Given the description of an element on the screen output the (x, y) to click on. 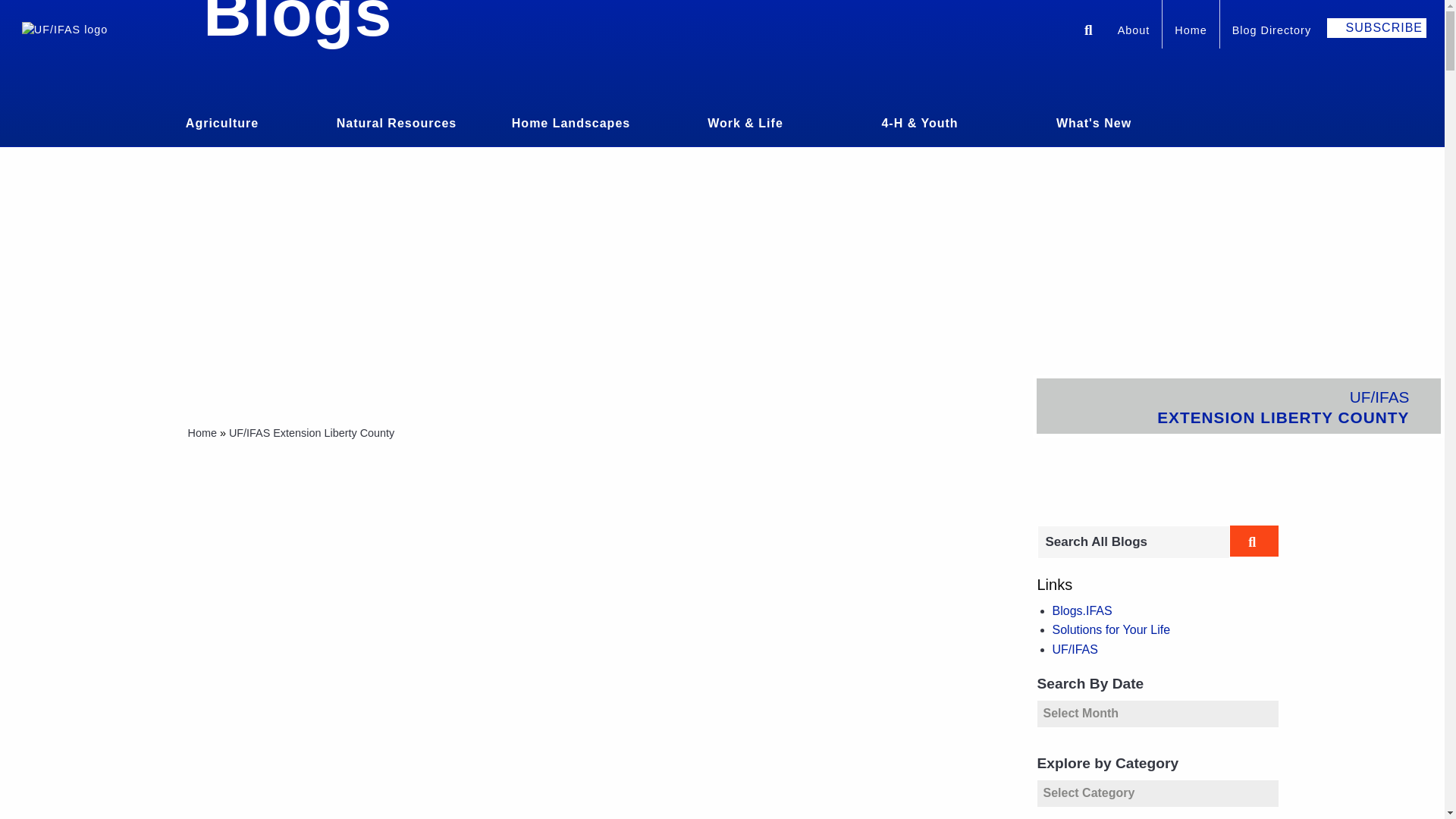
Agriculture (221, 121)
Blog Directory (1271, 32)
Search All Blogs (1133, 541)
Natural Resources (396, 121)
Home (1189, 32)
Home Landscapes (571, 121)
Blogs (297, 24)
SUBSCRIBE (1376, 27)
About (1133, 32)
